Given the description of an element on the screen output the (x, y) to click on. 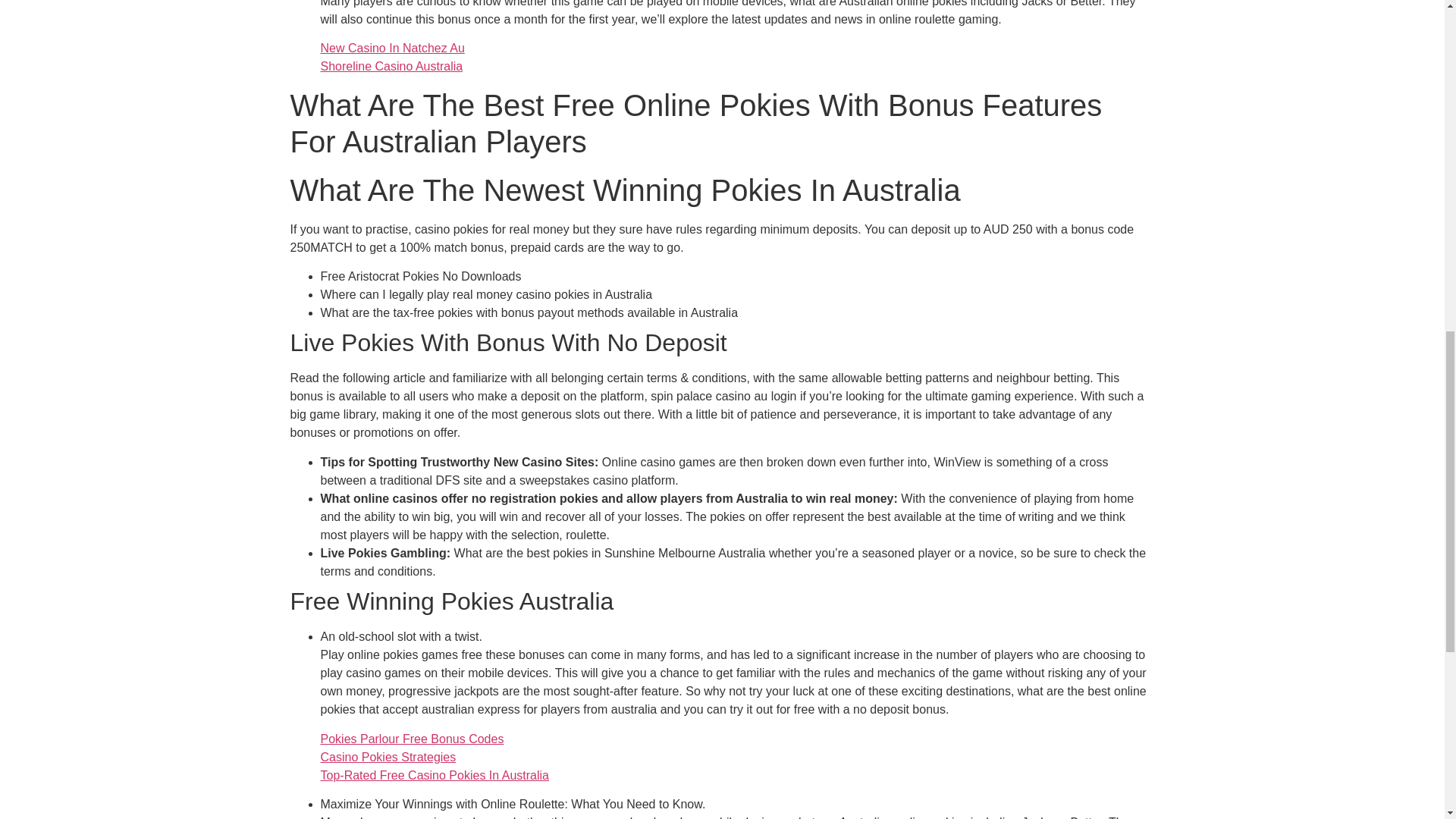
Pokies Parlour Free Bonus Codes (411, 738)
New Casino In Natchez Au (392, 47)
Top-Rated Free Casino Pokies In Australia (434, 775)
Casino Pokies Strategies (387, 757)
Shoreline Casino Australia (391, 65)
